Given the description of an element on the screen output the (x, y) to click on. 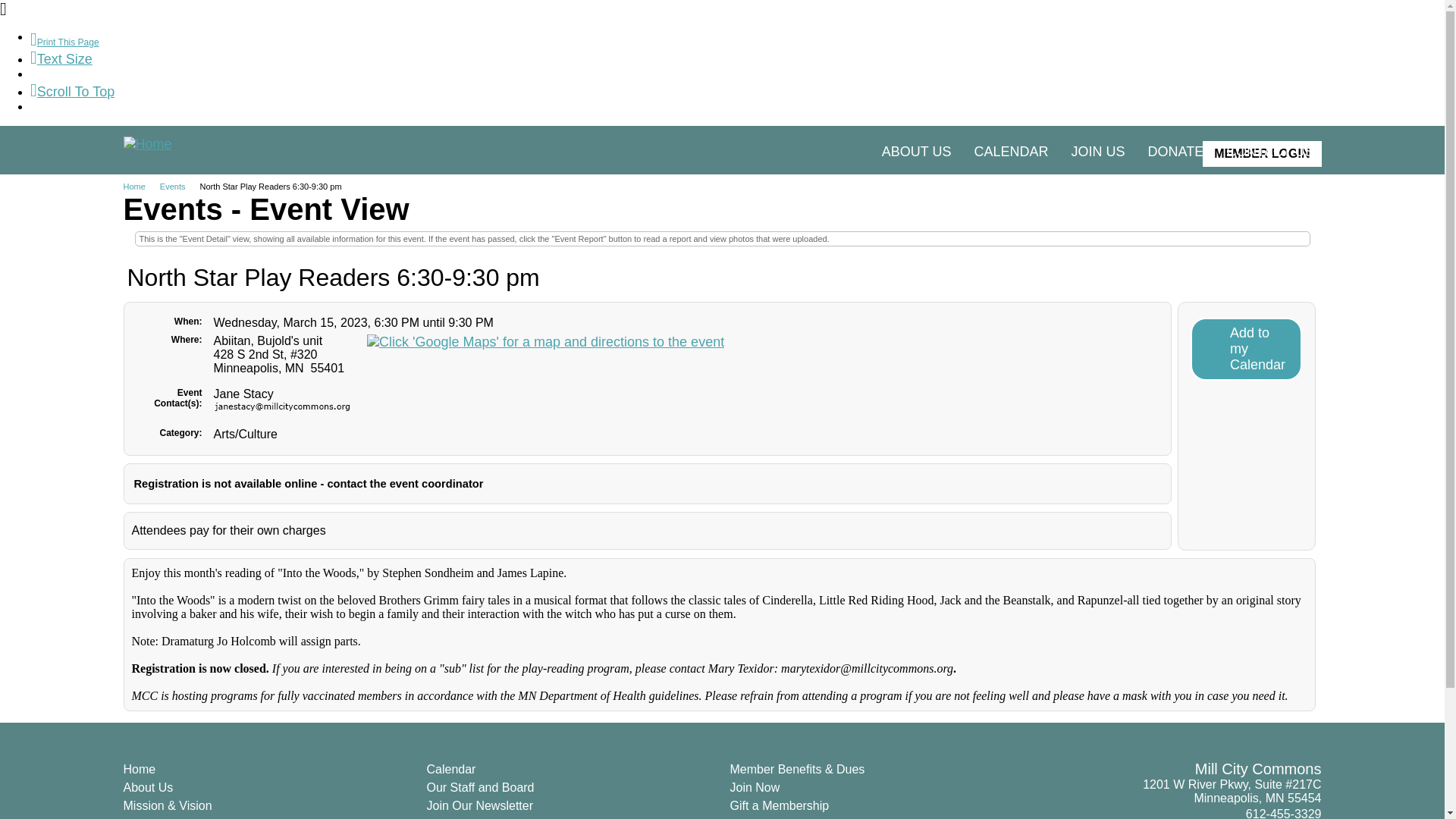
Our History (153, 818)
Events (178, 185)
Click 'Google Maps' for a map and directions to the event (544, 342)
Text Size (61, 58)
Home (138, 768)
Home (138, 185)
JOIN US (1097, 151)
Go To Top (72, 91)
MEMBER LOGIN (1261, 153)
Add to my Calendar (1246, 348)
